Given the description of an element on the screen output the (x, y) to click on. 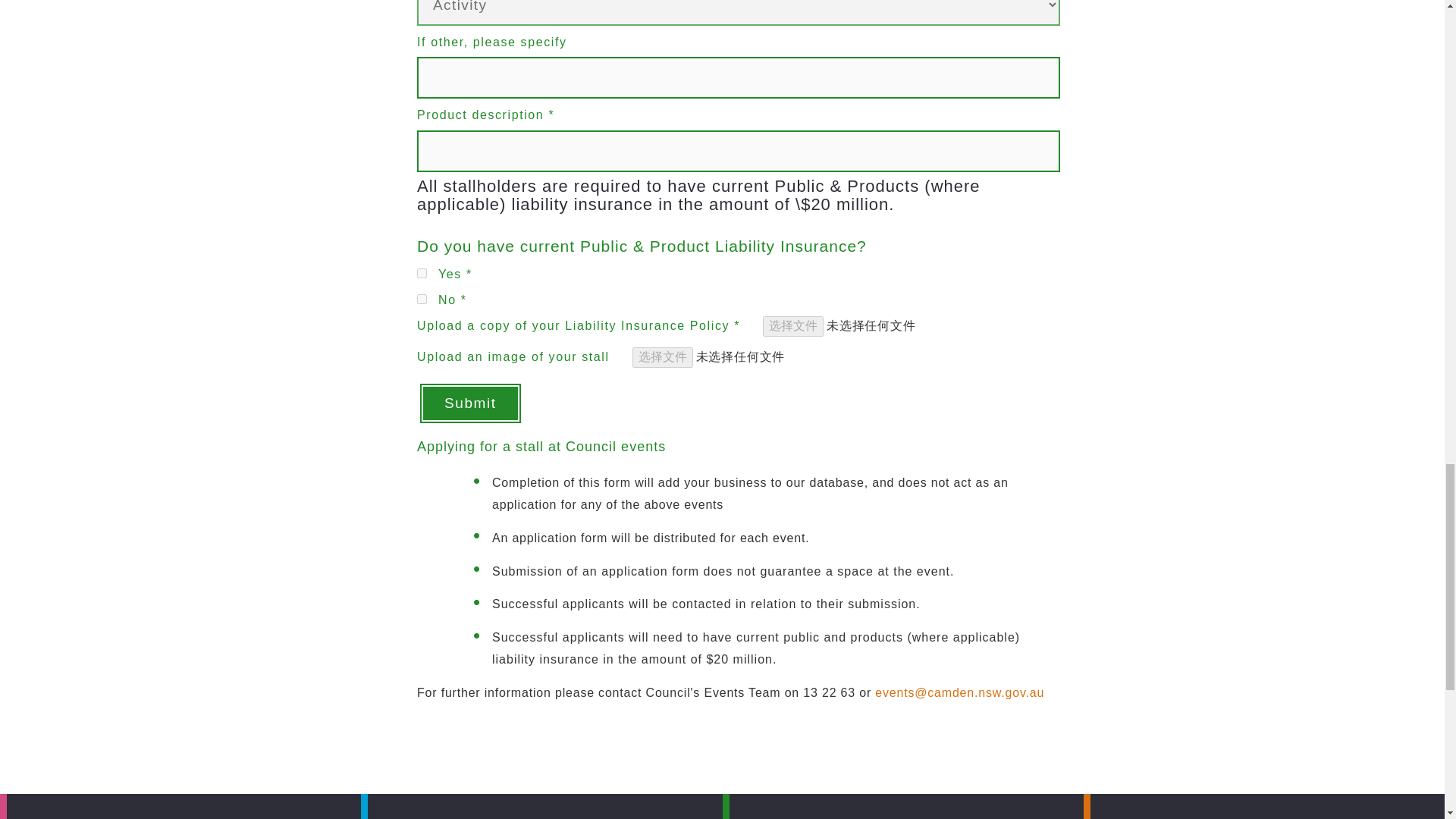
Yes (421, 273)
No (421, 298)
Submit (470, 404)
